Given the description of an element on the screen output the (x, y) to click on. 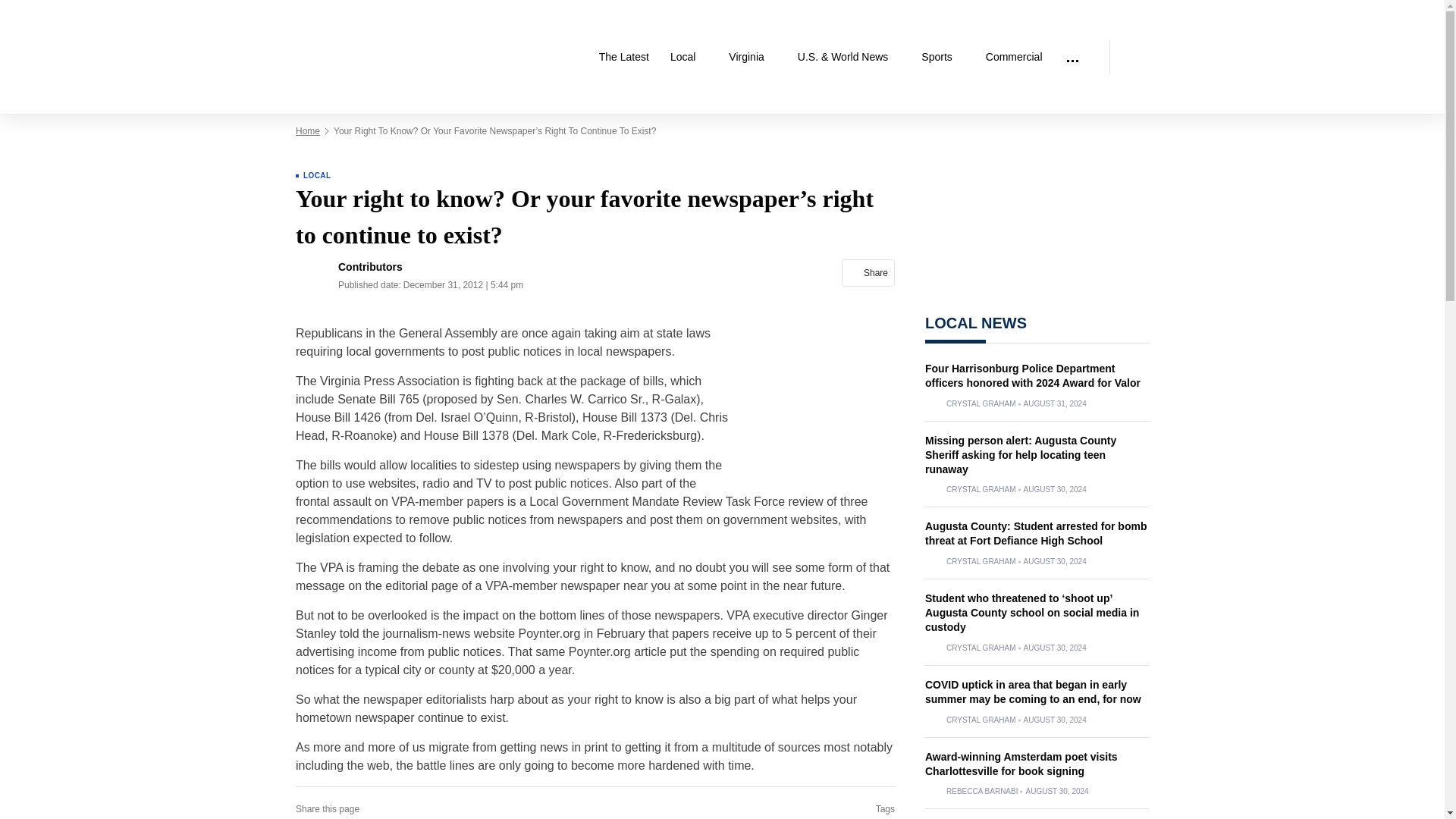
Commercial (1013, 57)
Local (688, 57)
The Latest (623, 57)
Virginia (751, 57)
Sports (942, 57)
